Given the description of an element on the screen output the (x, y) to click on. 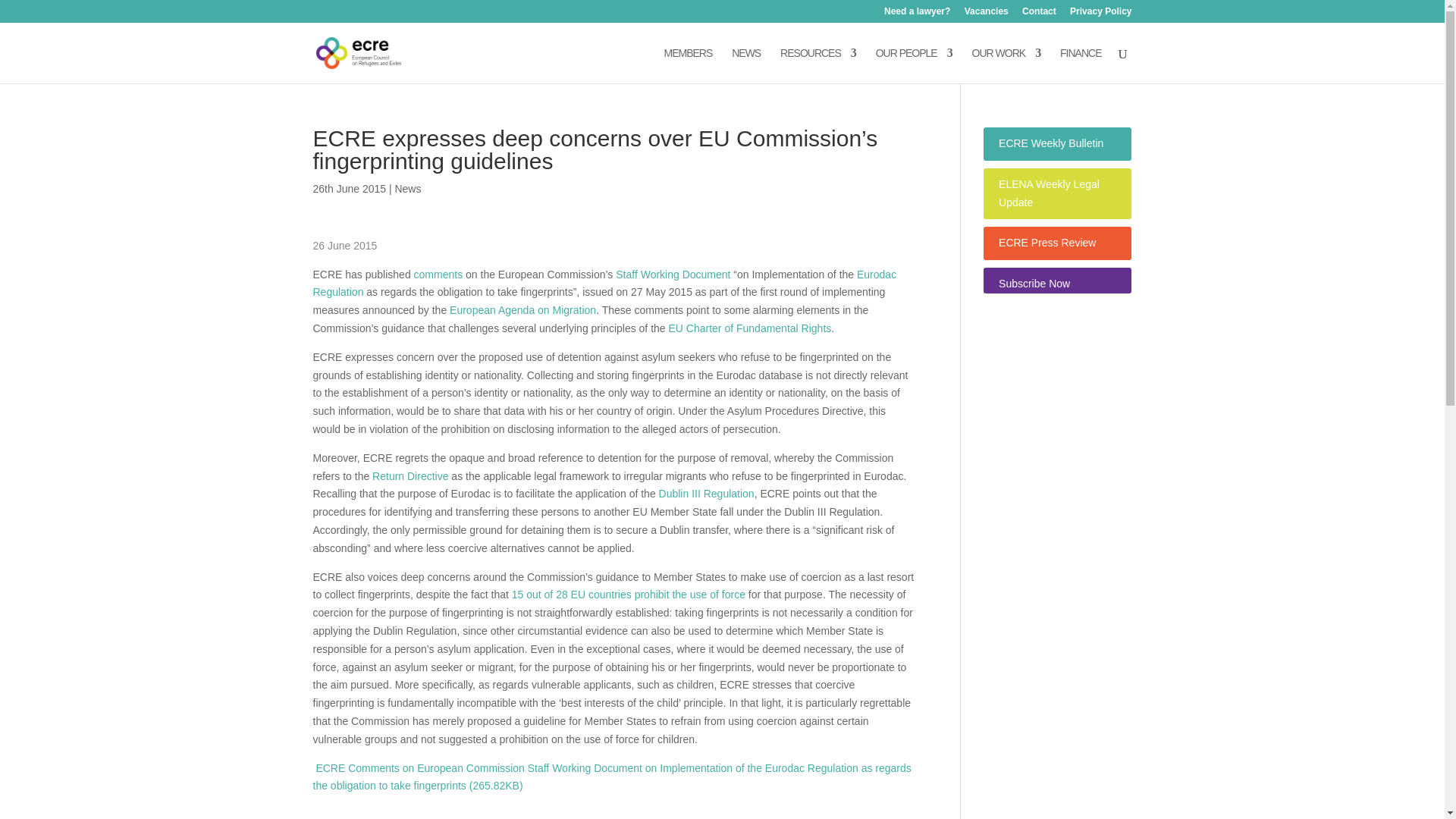
FINANCE (1079, 65)
EU Charter of Fundamental Rights (749, 328)
Contact (1039, 14)
Privacy Policy (1100, 14)
Staff Working Document (672, 274)
European Agenda on Migration (522, 309)
Return Directive (410, 476)
OUR PEOPLE (914, 65)
comments (439, 274)
RESOURCES (818, 65)
Vacancies (986, 14)
Eurodac Regulation (604, 283)
MEMBERS (688, 65)
Need a lawyer? (916, 14)
News (407, 188)
